Given the description of an element on the screen output the (x, y) to click on. 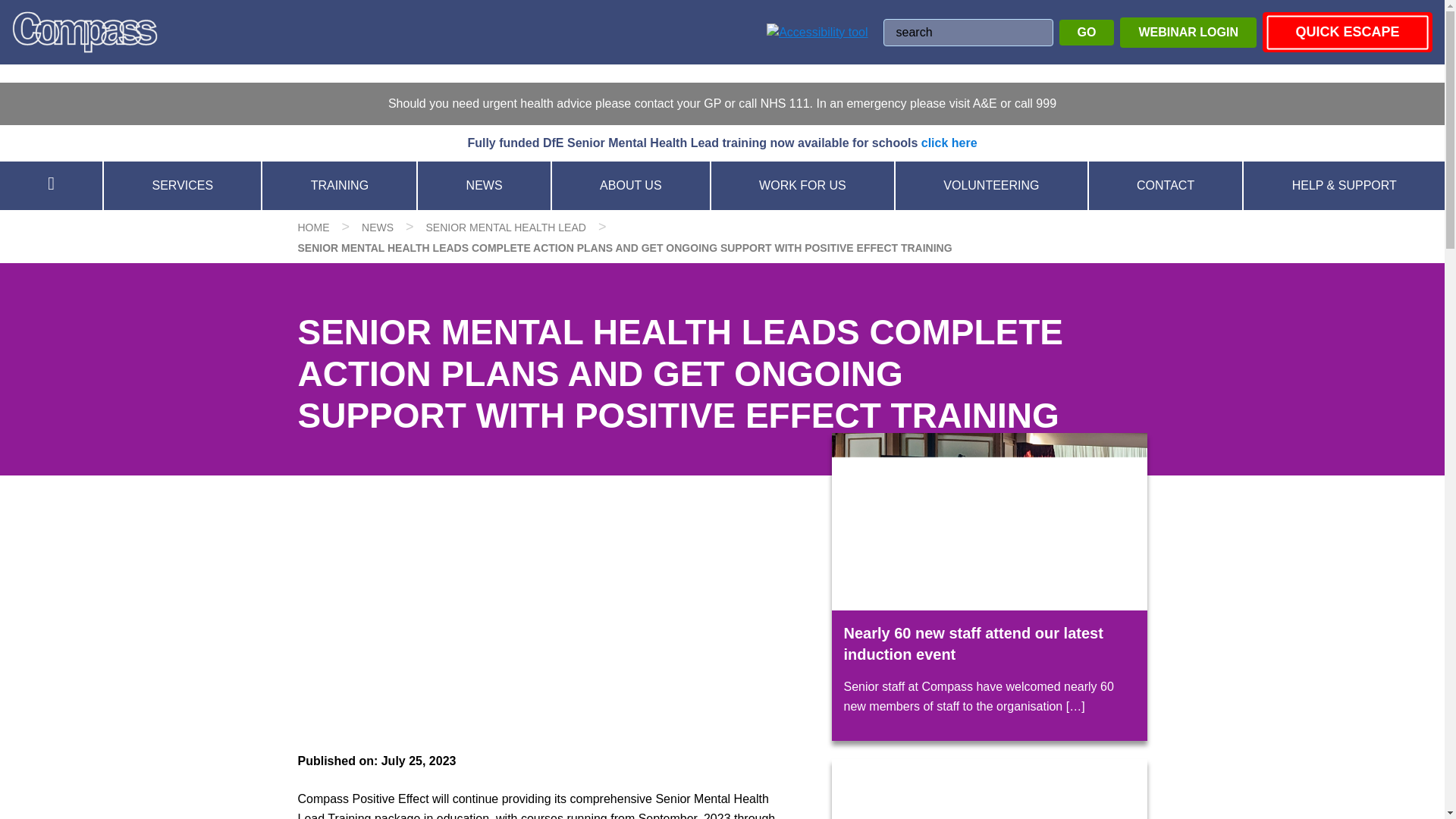
skip to main content (53, 8)
WEBINAR LOGIN (1187, 31)
Home (313, 227)
SERVICES (181, 185)
GO (1087, 32)
News (377, 227)
click here (948, 142)
QUICK ESCAPE (1347, 32)
